Given the description of an element on the screen output the (x, y) to click on. 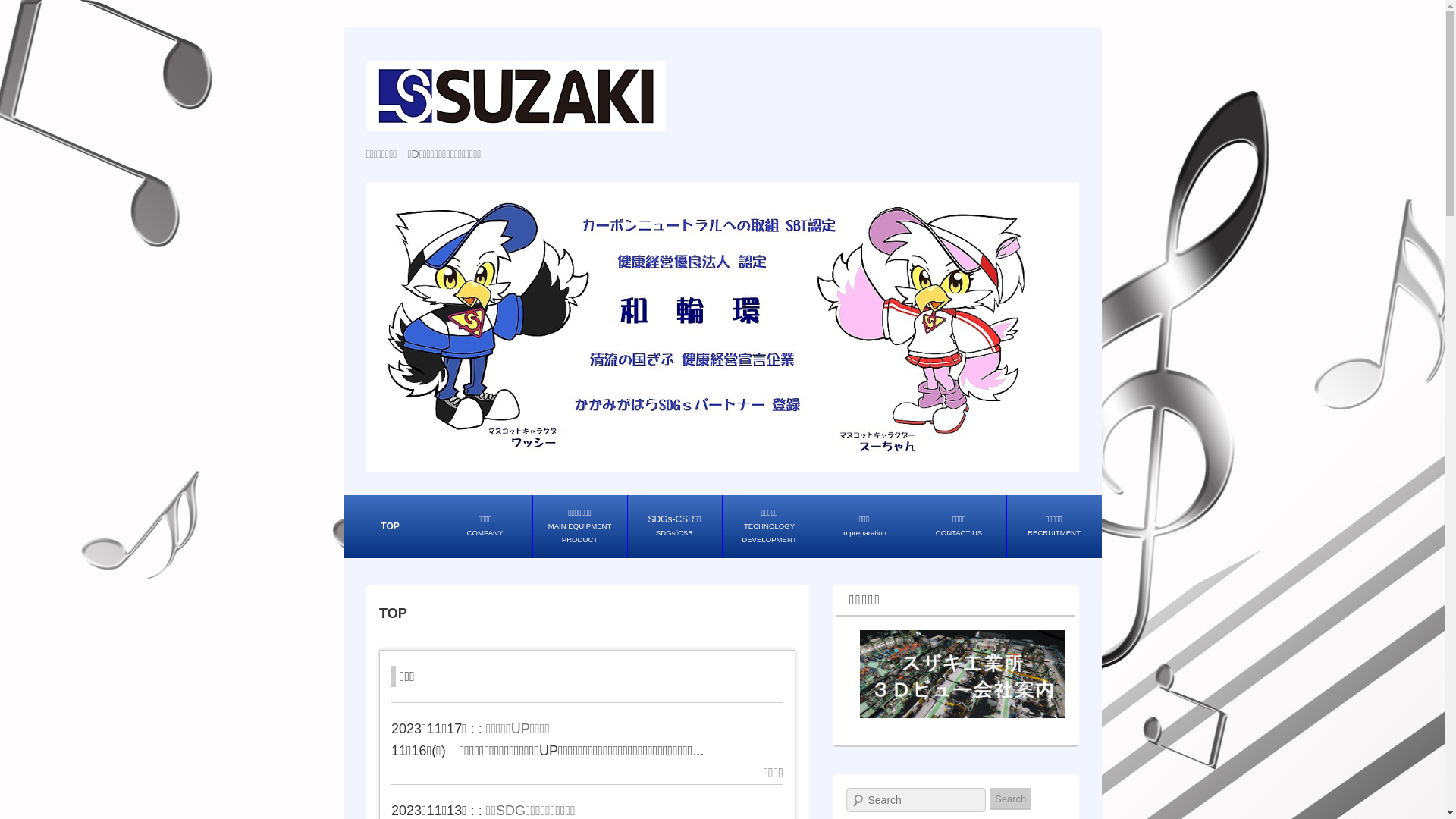
Skip to primary content Element type: text (412, 506)
Search Element type: text (1010, 798)
TOP Element type: text (389, 526)
Skip to secondary content Element type: text (420, 506)
